Given the description of an element on the screen output the (x, y) to click on. 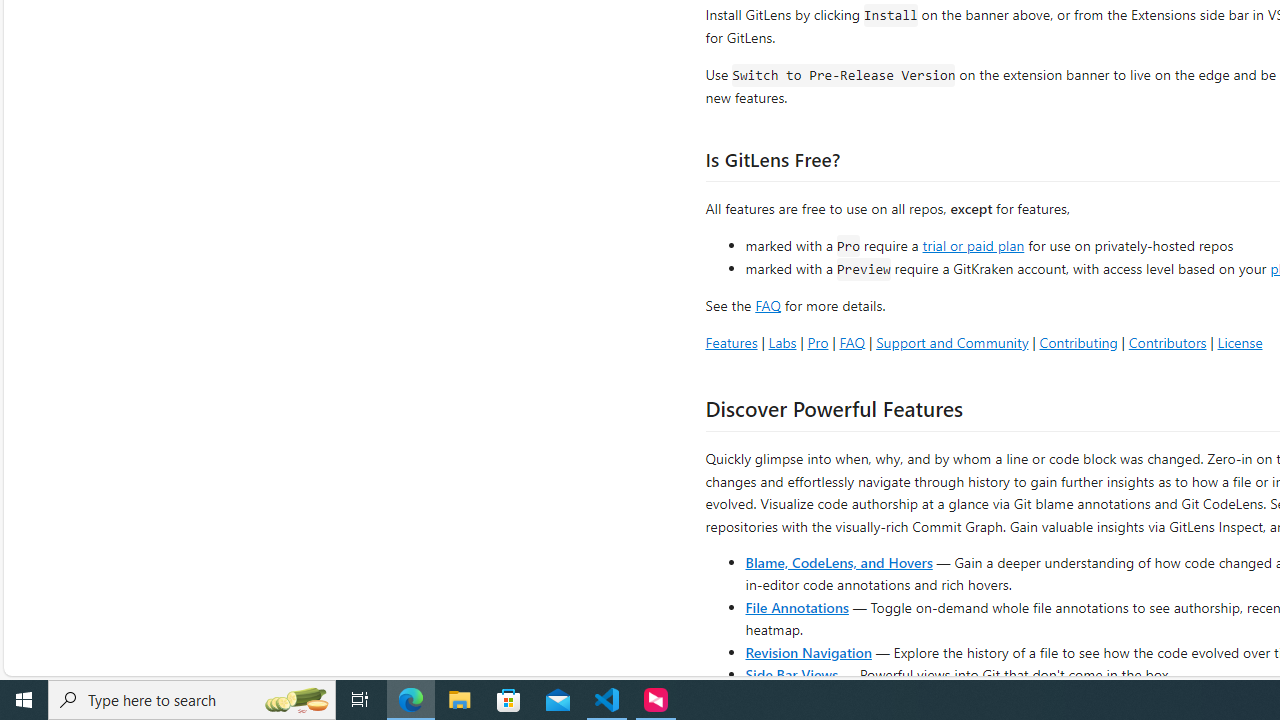
Contributing (1078, 341)
Labs (782, 341)
Blame, CodeLens, and Hovers (838, 561)
FAQ (852, 341)
License (1240, 341)
Side Bar Views (791, 673)
Features (731, 341)
Pro (817, 341)
Contributors (1167, 341)
File Annotations (796, 606)
Revision Navigation (807, 651)
trial or paid plan (973, 244)
Support and Community (952, 341)
